Given the description of an element on the screen output the (x, y) to click on. 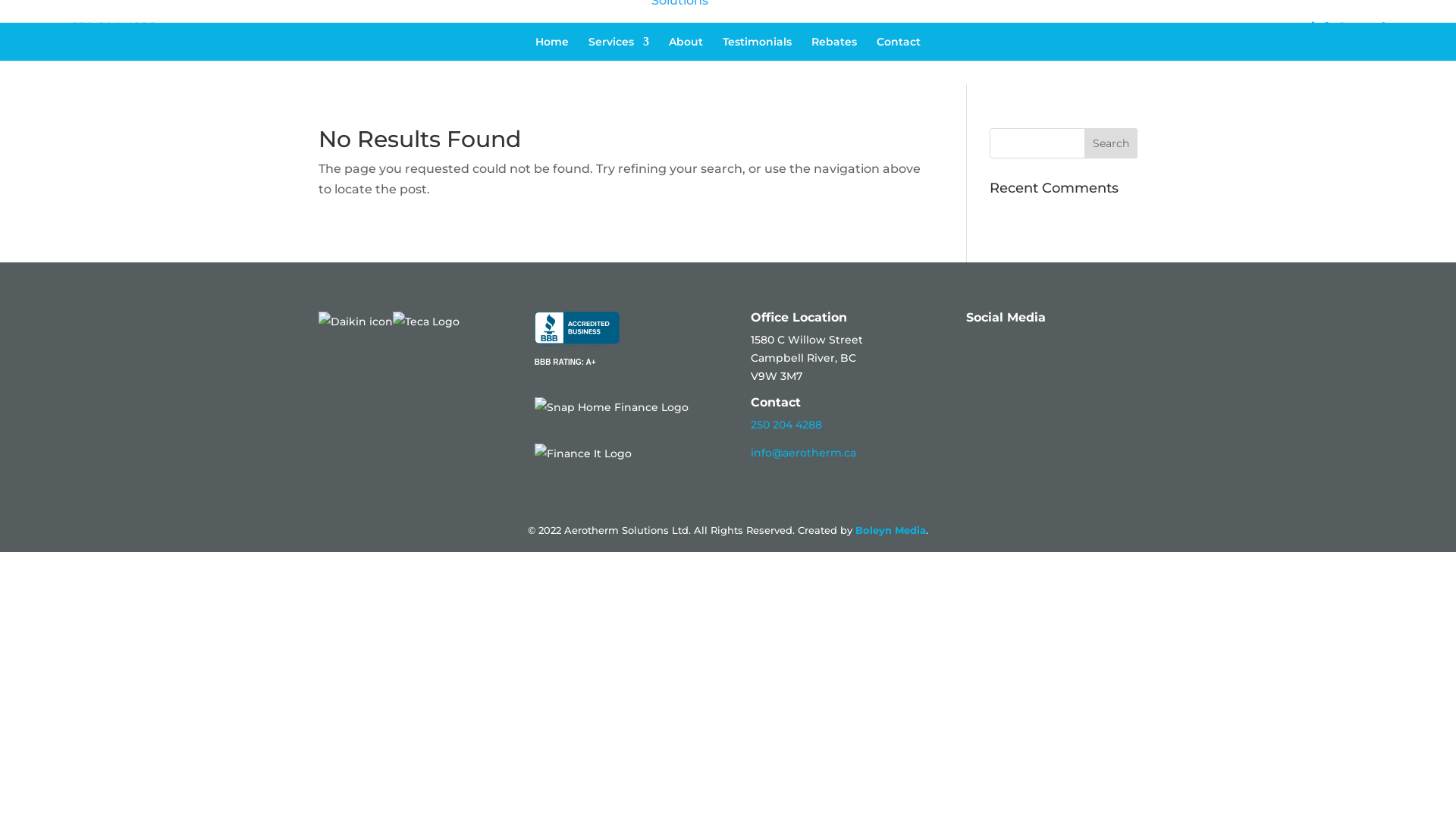
Home Element type: text (551, 55)
Testimonials Element type: text (756, 55)
Services Element type: text (618, 55)
Rebates Element type: text (833, 55)
info@aerotherm.ca Element type: text (803, 452)
About Element type: text (685, 55)
250 204 4288 Element type: text (786, 424)
Boleyn Media Element type: text (890, 530)
Search Element type: text (1110, 143)
Contact Element type: text (898, 55)
